Given the description of an element on the screen output the (x, y) to click on. 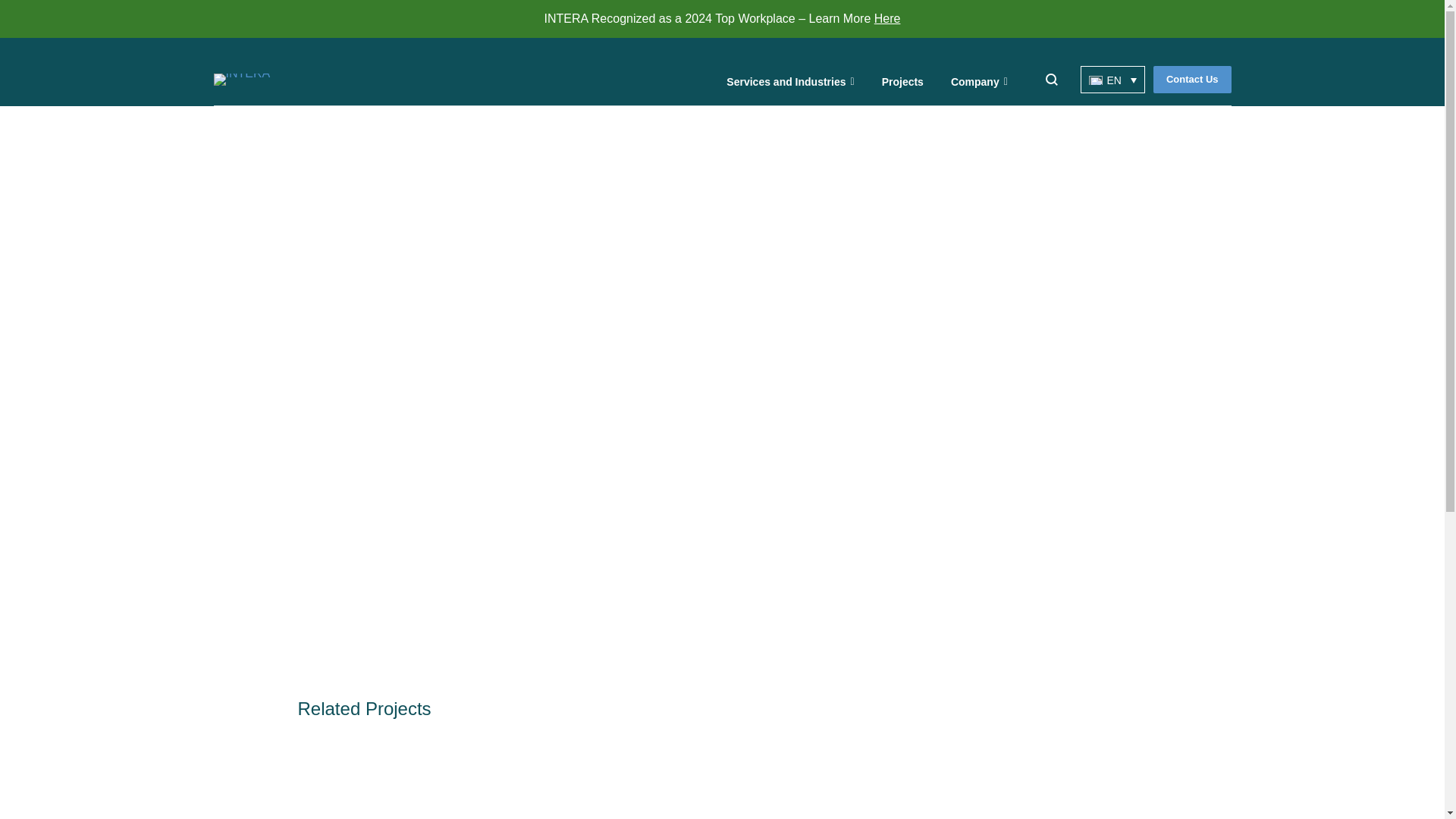
Search (21, 7)
